Given the description of an element on the screen output the (x, y) to click on. 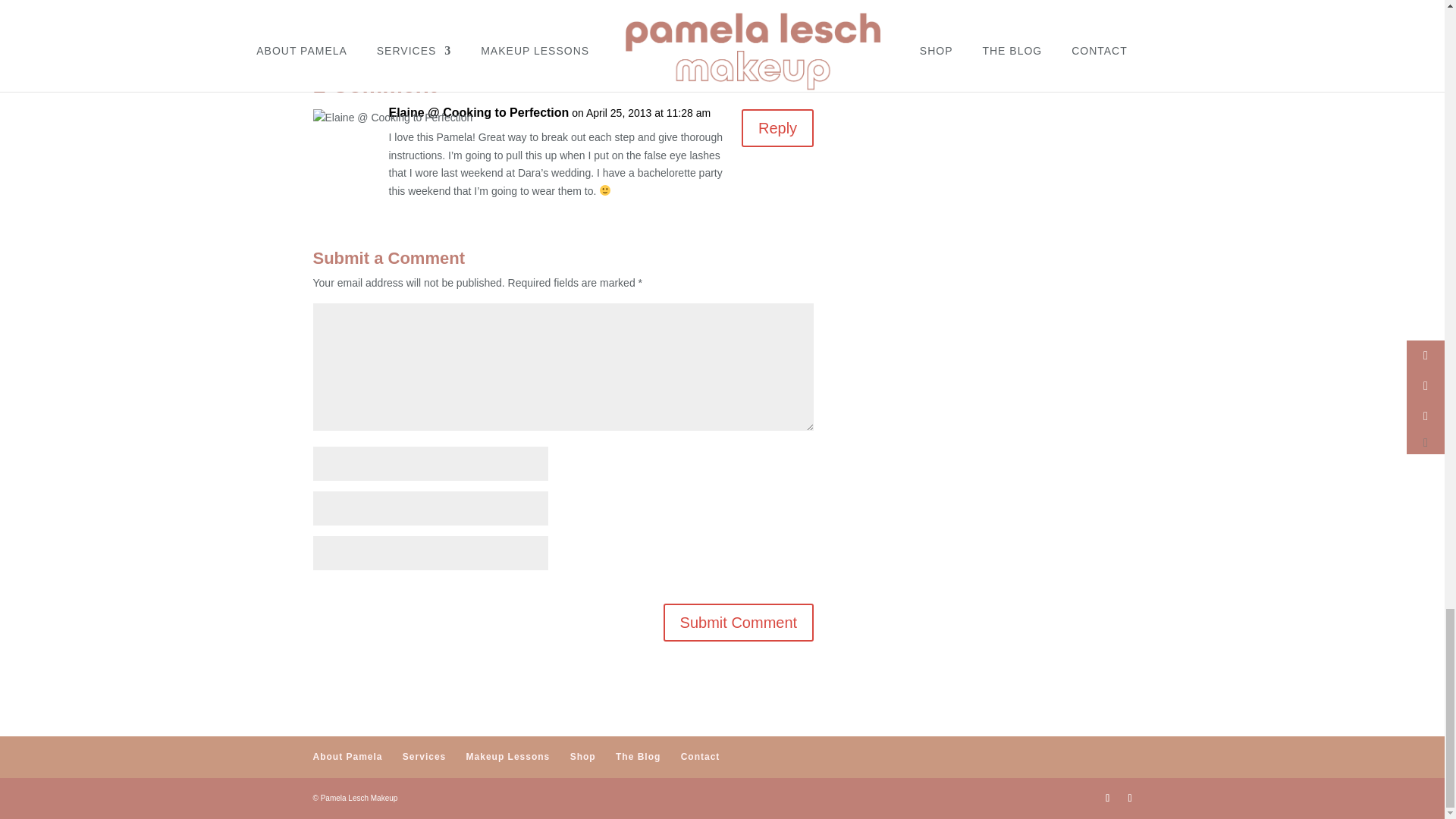
Services (424, 756)
Submit Comment (738, 622)
Contact (700, 756)
Shop (582, 756)
Submit Comment (738, 622)
The Blog (638, 756)
Makeup Lessons (507, 756)
About Pamela (347, 756)
Please wait until Google reCAPTCHA is loaded. (738, 622)
Reply (777, 127)
